Given the description of an element on the screen output the (x, y) to click on. 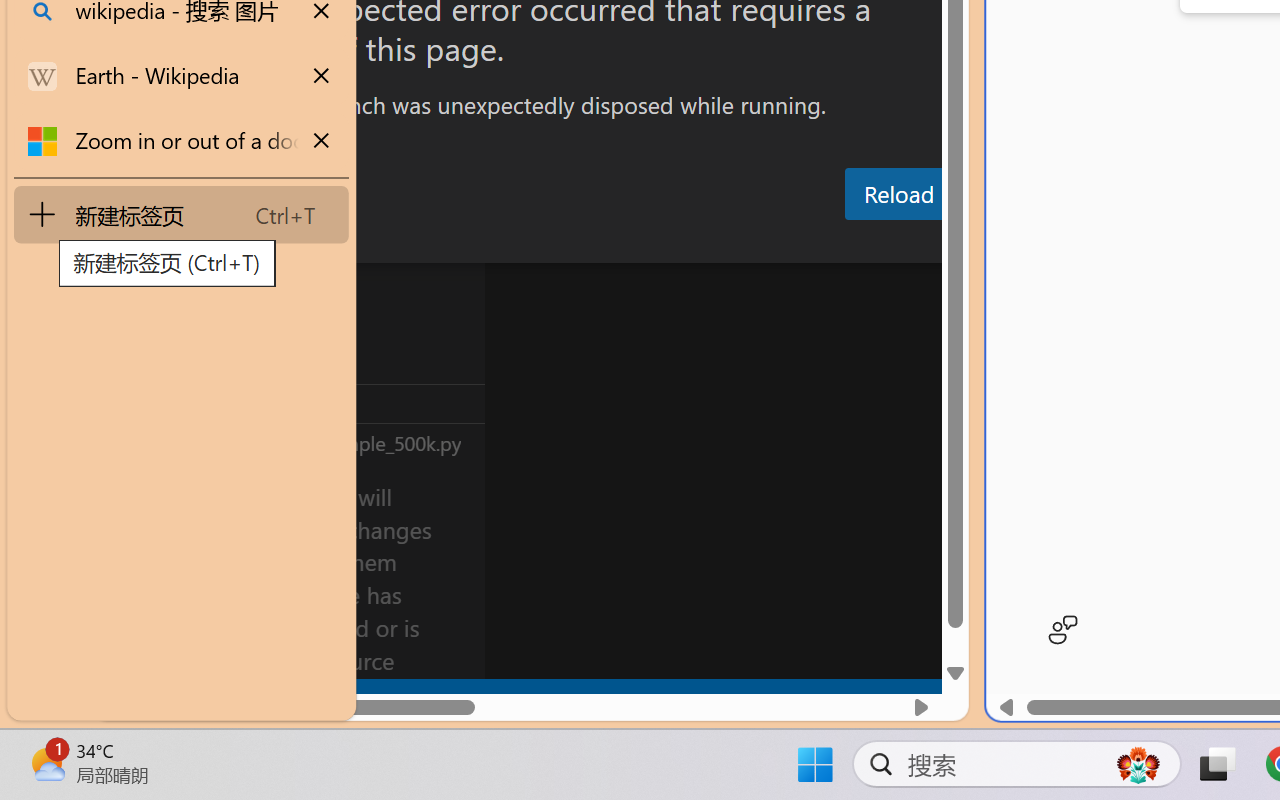
Accounts - Sign in requested (135, 548)
Problems (Ctrl+Shift+M) (567, 243)
